Given the description of an element on the screen output the (x, y) to click on. 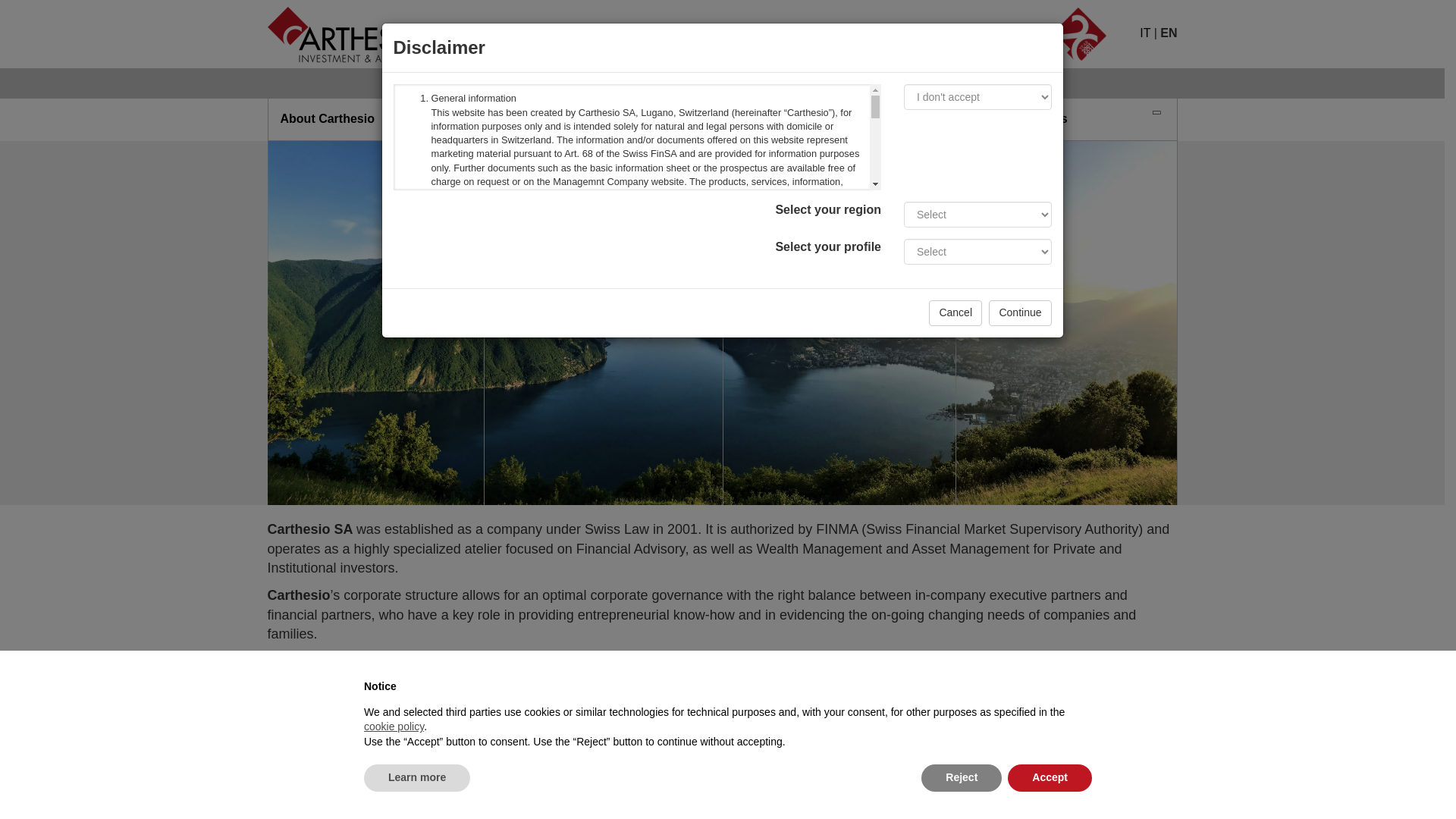
Institutionals (603, 119)
Where We Are (1066, 119)
Continue (1019, 312)
Accept (1049, 777)
Wealth Management (603, 119)
cookie policy (393, 726)
Privacy Policy (304, 800)
Learn more (417, 777)
Asset Management (839, 119)
ESG (839, 119)
Cookie Policy (389, 800)
Reject (961, 777)
Disclaimer (1031, 783)
About Carthesio (374, 119)
Cancel (954, 312)
